Given the description of an element on the screen output the (x, y) to click on. 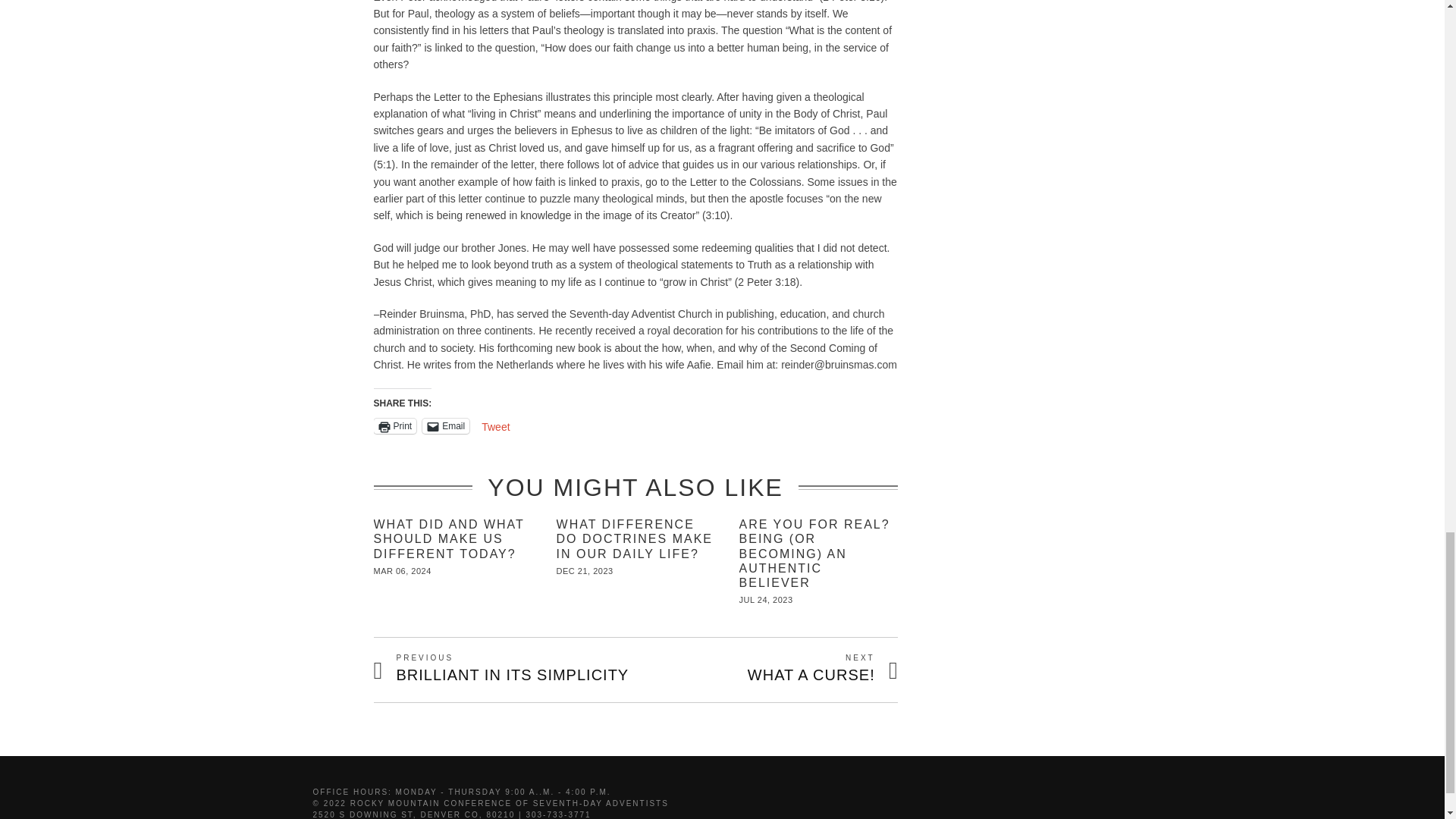
Click to print (394, 426)
Mar 06, 2024 (401, 570)
Jul 24, 2023 (766, 599)
Click to email a link to a friend (445, 426)
